Given the description of an element on the screen output the (x, y) to click on. 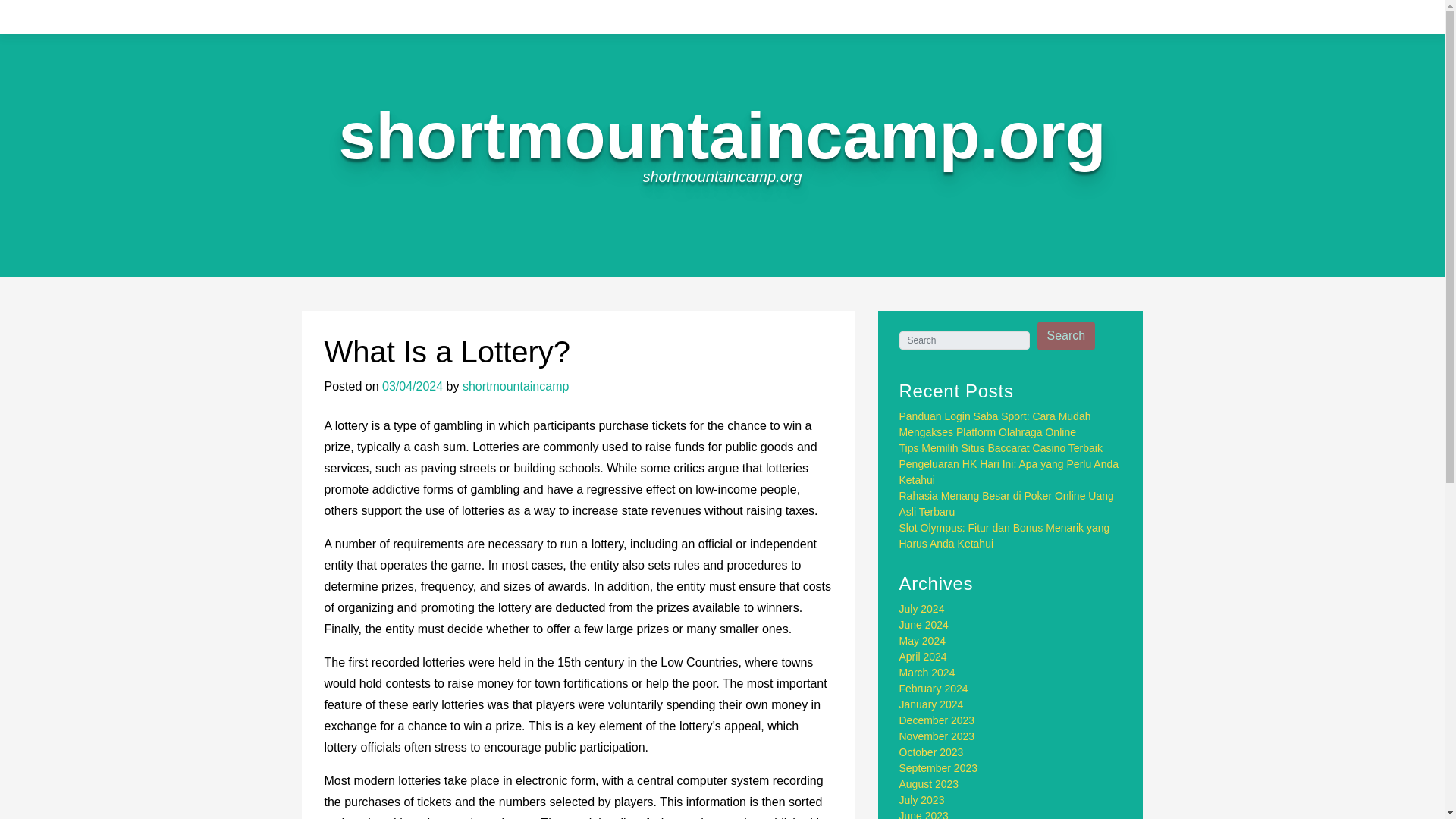
June 2023 (924, 814)
Pengeluaran HK Hari Ini: Apa yang Perlu Anda Ketahui (1009, 471)
July 2023 (921, 799)
Search (1066, 335)
January 2024 (931, 704)
shortmountaincamp (516, 386)
March 2024 (927, 672)
May 2024 (921, 640)
April 2024 (923, 656)
August 2023 (929, 784)
July 2024 (921, 608)
Rahasia Menang Besar di Poker Online Uang Asli Terbaru (1006, 503)
October 2023 (931, 752)
Tips Memilih Situs Baccarat Casino Terbaik (1000, 448)
